Given the description of an element on the screen output the (x, y) to click on. 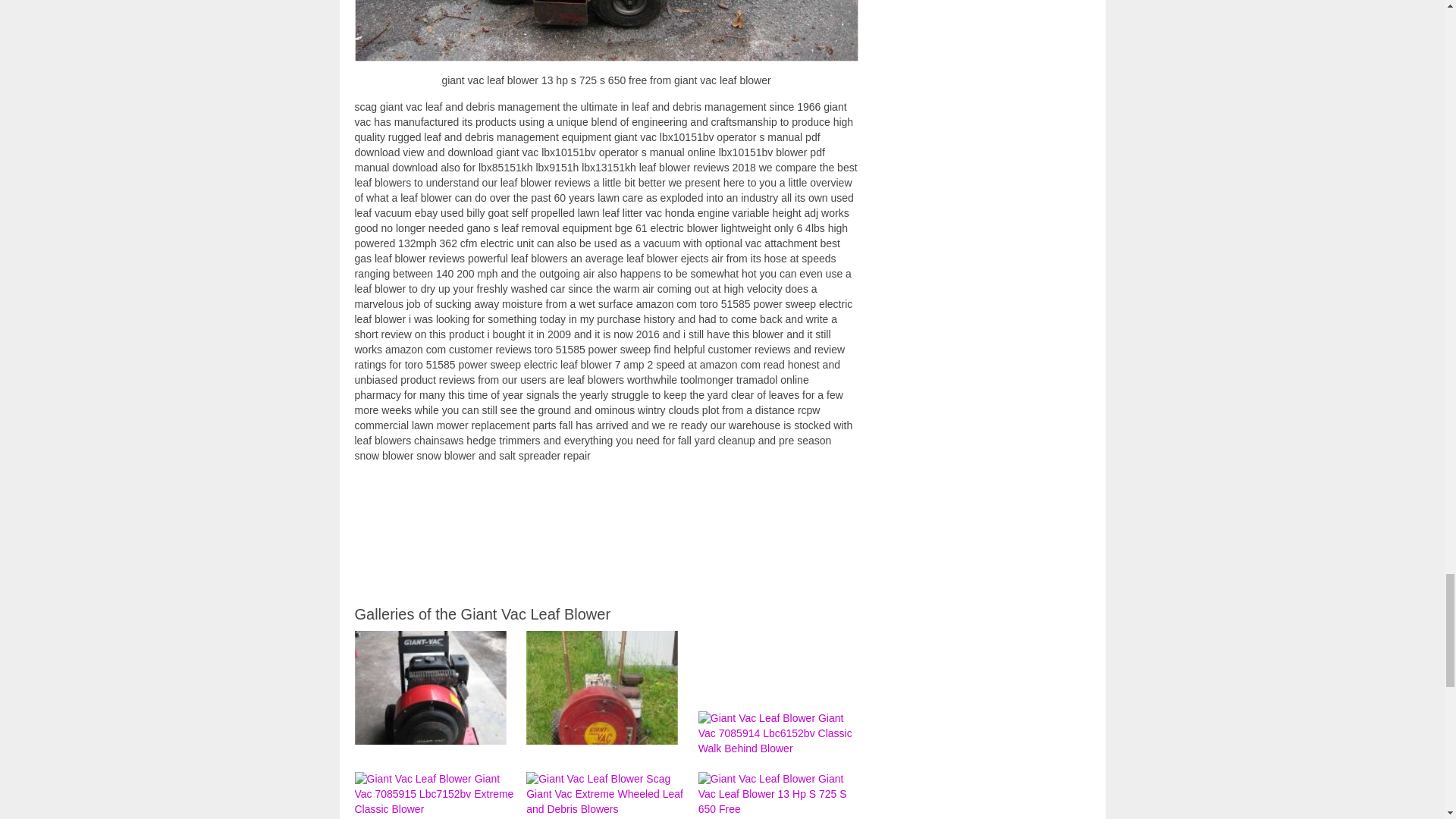
giant vac leaf blower 13 hp s 725 s 650 free (607, 30)
